Given the description of an element on the screen output the (x, y) to click on. 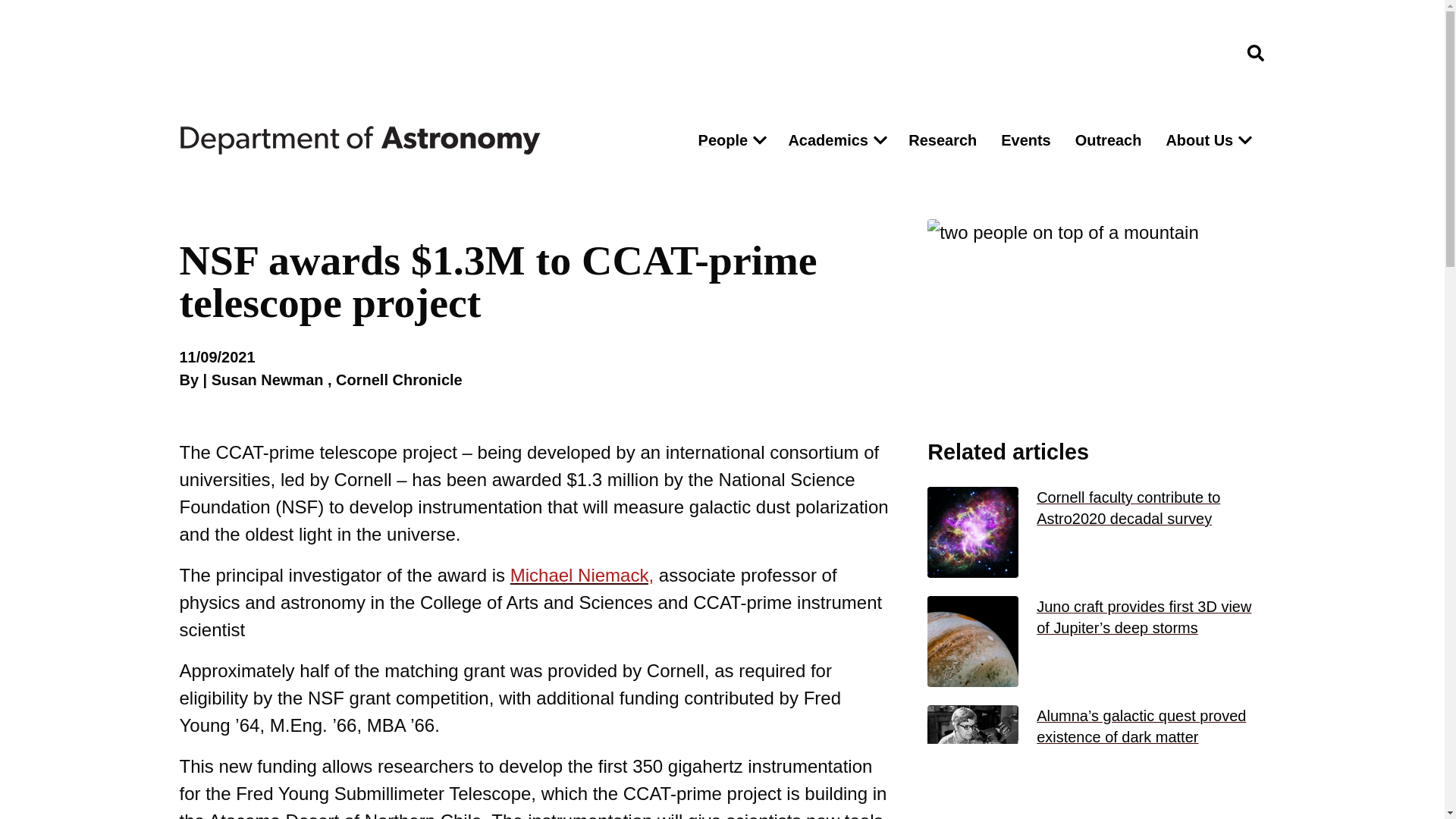
About Us (1195, 139)
Outreach (1108, 139)
People (719, 139)
Research (942, 139)
Michael Niemack, (582, 575)
Academics (823, 139)
College of Arts and Sciences (1146, 52)
Search (975, 181)
Department Homepage (425, 140)
Cornell University (254, 53)
